Given the description of an element on the screen output the (x, y) to click on. 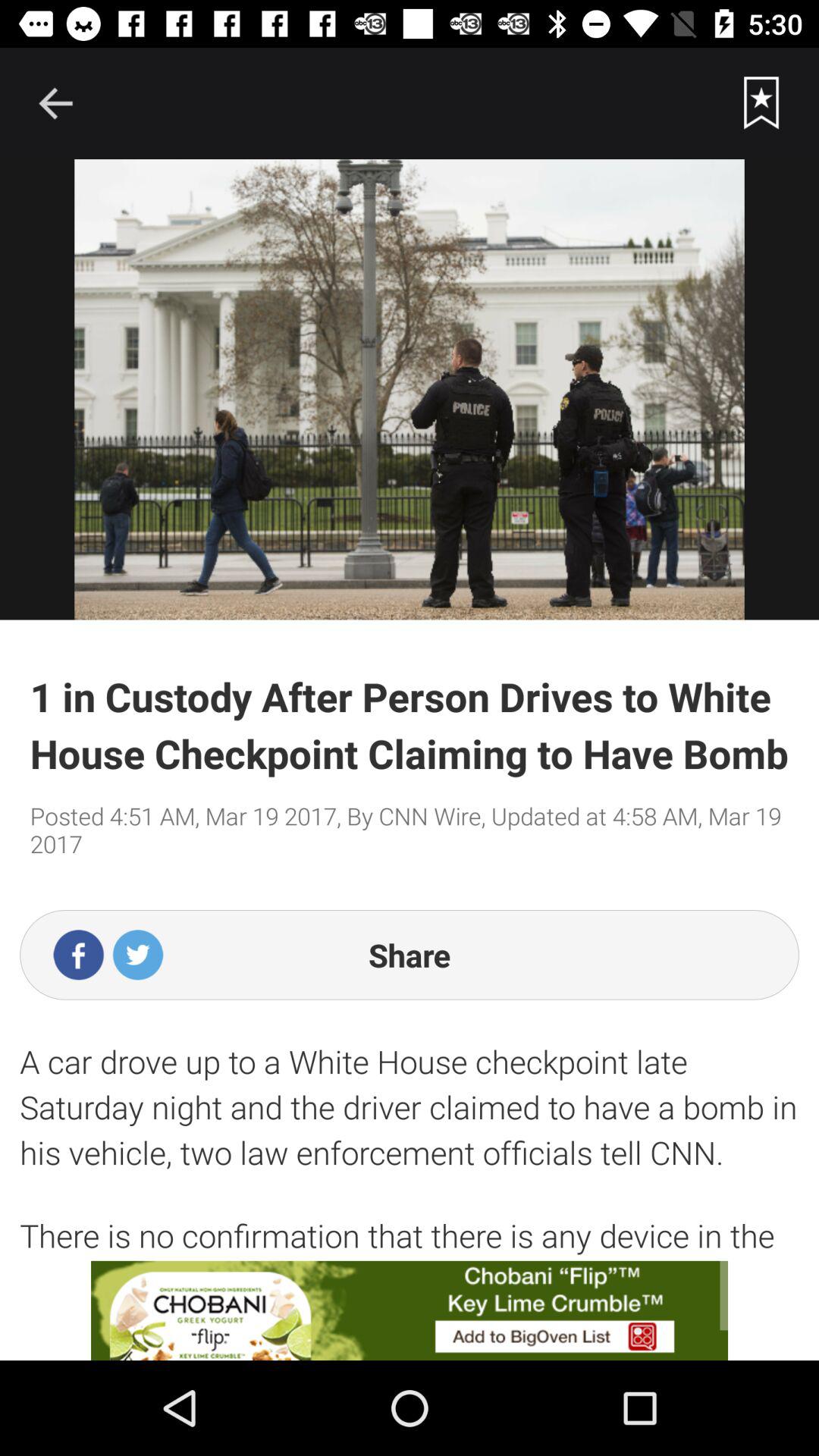
bookmark the page (761, 102)
